Given the description of an element on the screen output the (x, y) to click on. 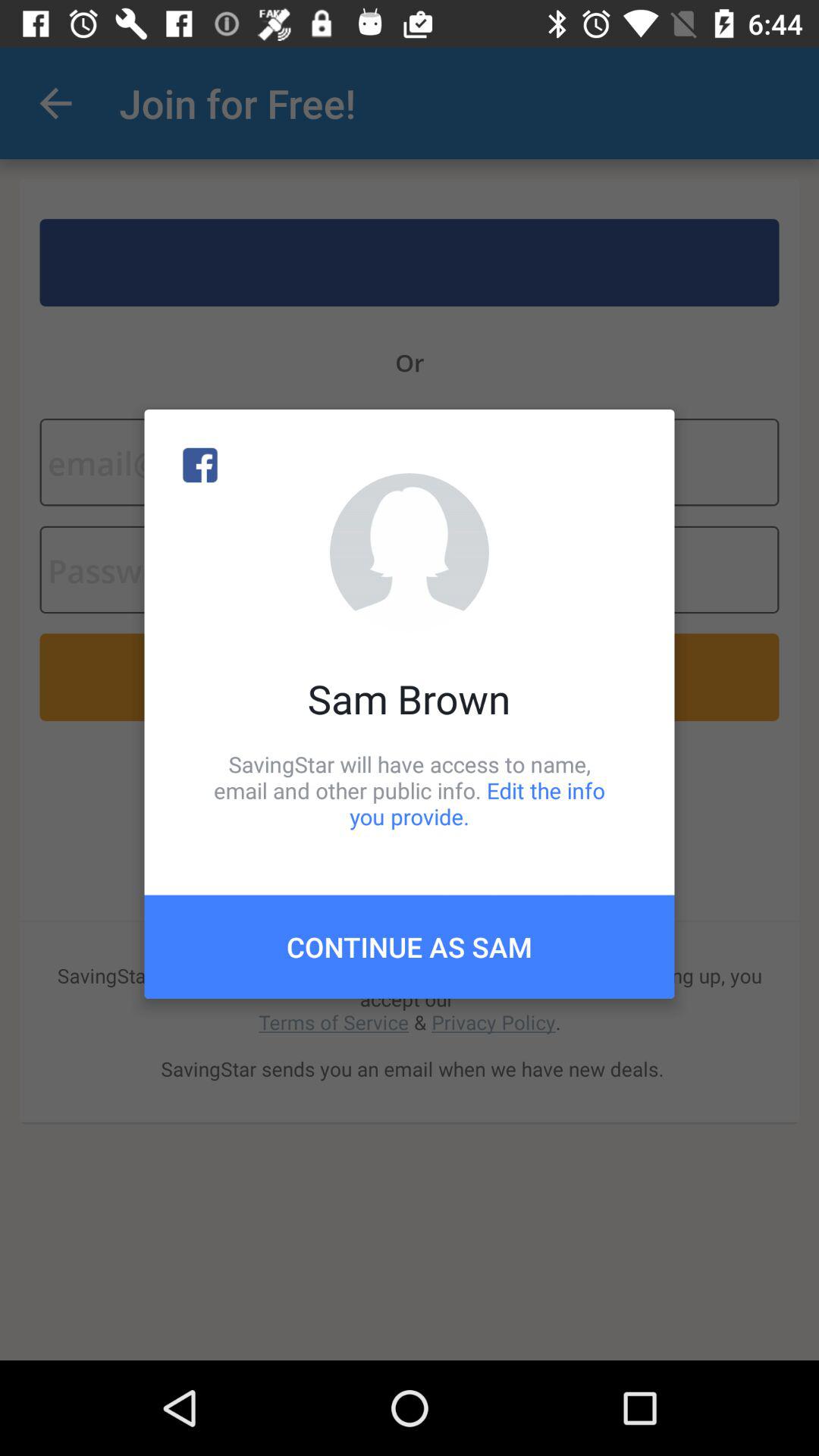
flip until the savingstar will have icon (409, 790)
